Given the description of an element on the screen output the (x, y) to click on. 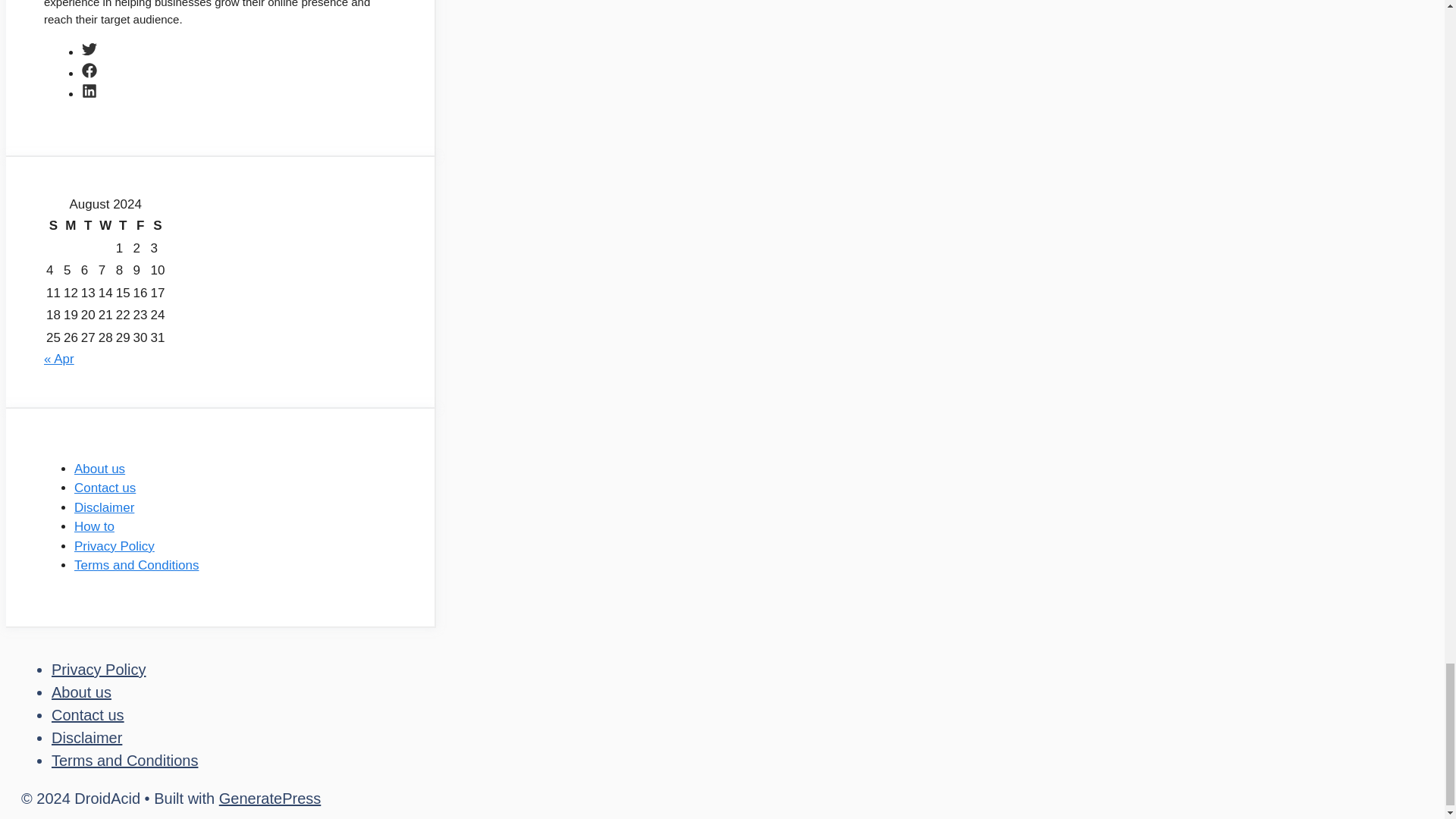
Terms and Conditions (136, 564)
Contact us (104, 487)
About us (99, 468)
Terms and Conditions (124, 760)
How to (94, 526)
Privacy Policy (97, 669)
Privacy Policy (114, 545)
Contact us (86, 714)
Disclaimer (86, 737)
GeneratePress (270, 798)
